Given the description of an element on the screen output the (x, y) to click on. 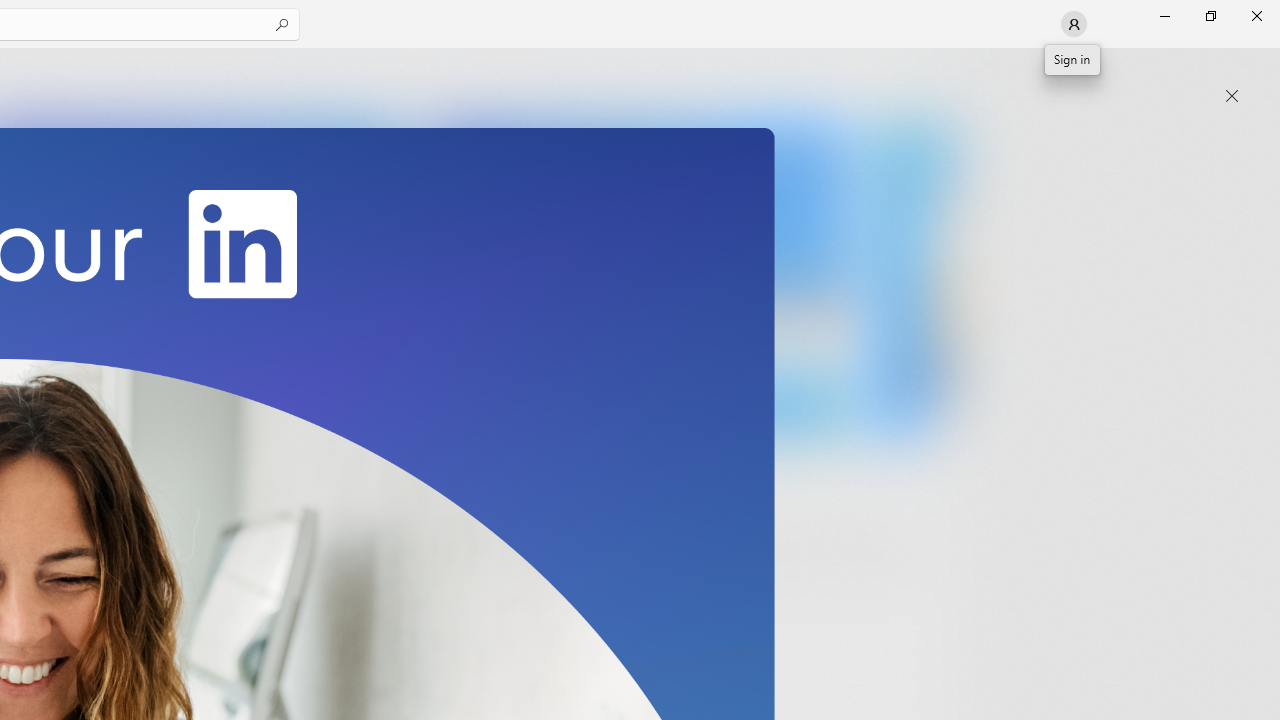
See all (924, 72)
User profile (1072, 23)
Screenshot 4 (912, 279)
Screenshot 3 (636, 279)
Restore Microsoft Store (1210, 15)
close popup window (1232, 95)
Minimize Microsoft Store (1164, 15)
Close Microsoft Store (1256, 15)
